Given the description of an element on the screen output the (x, y) to click on. 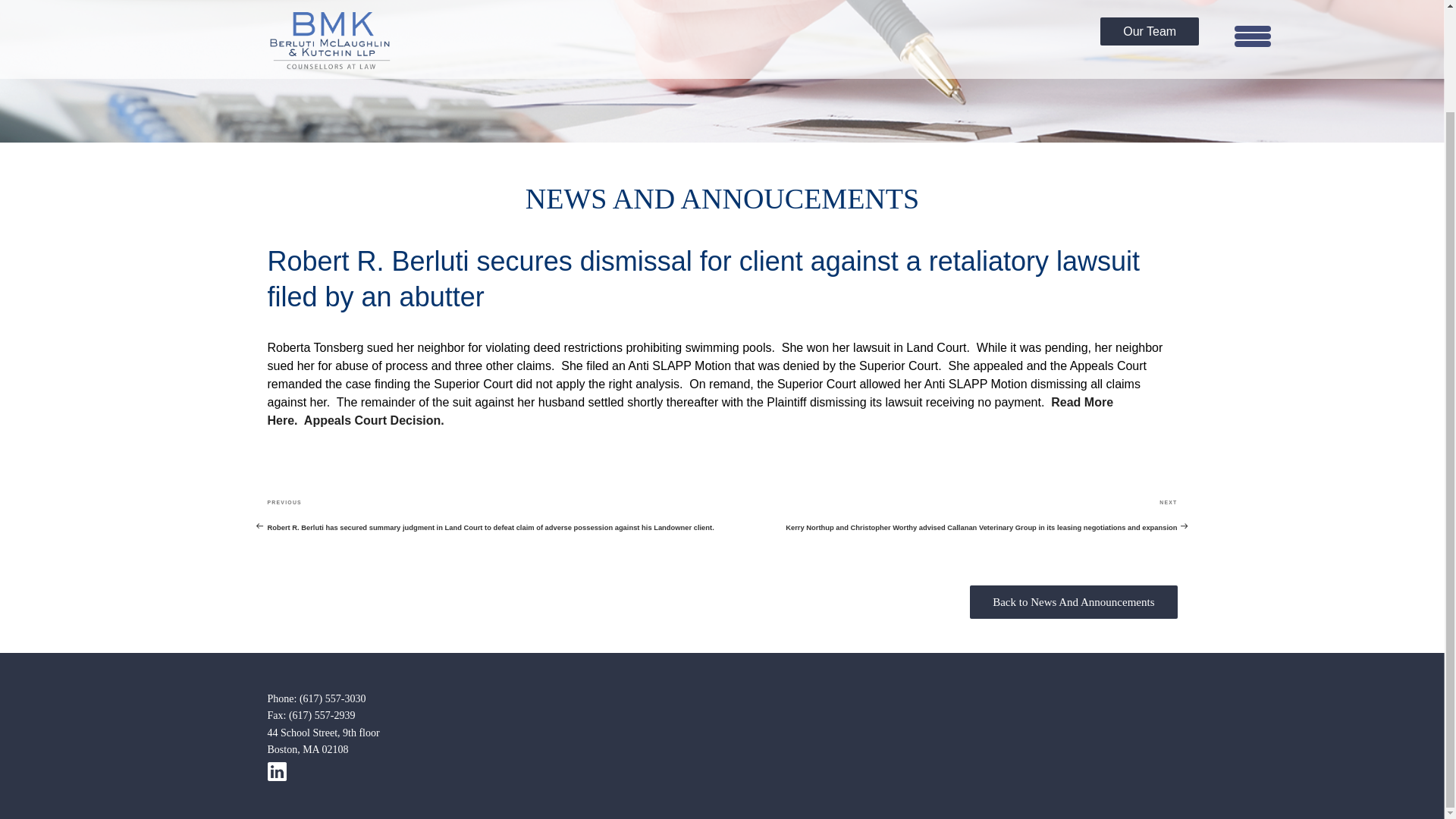
Appeals Court Decision. (374, 420)
Back to News And Announcements (1073, 602)
Read More Here. (689, 410)
